Given the description of an element on the screen output the (x, y) to click on. 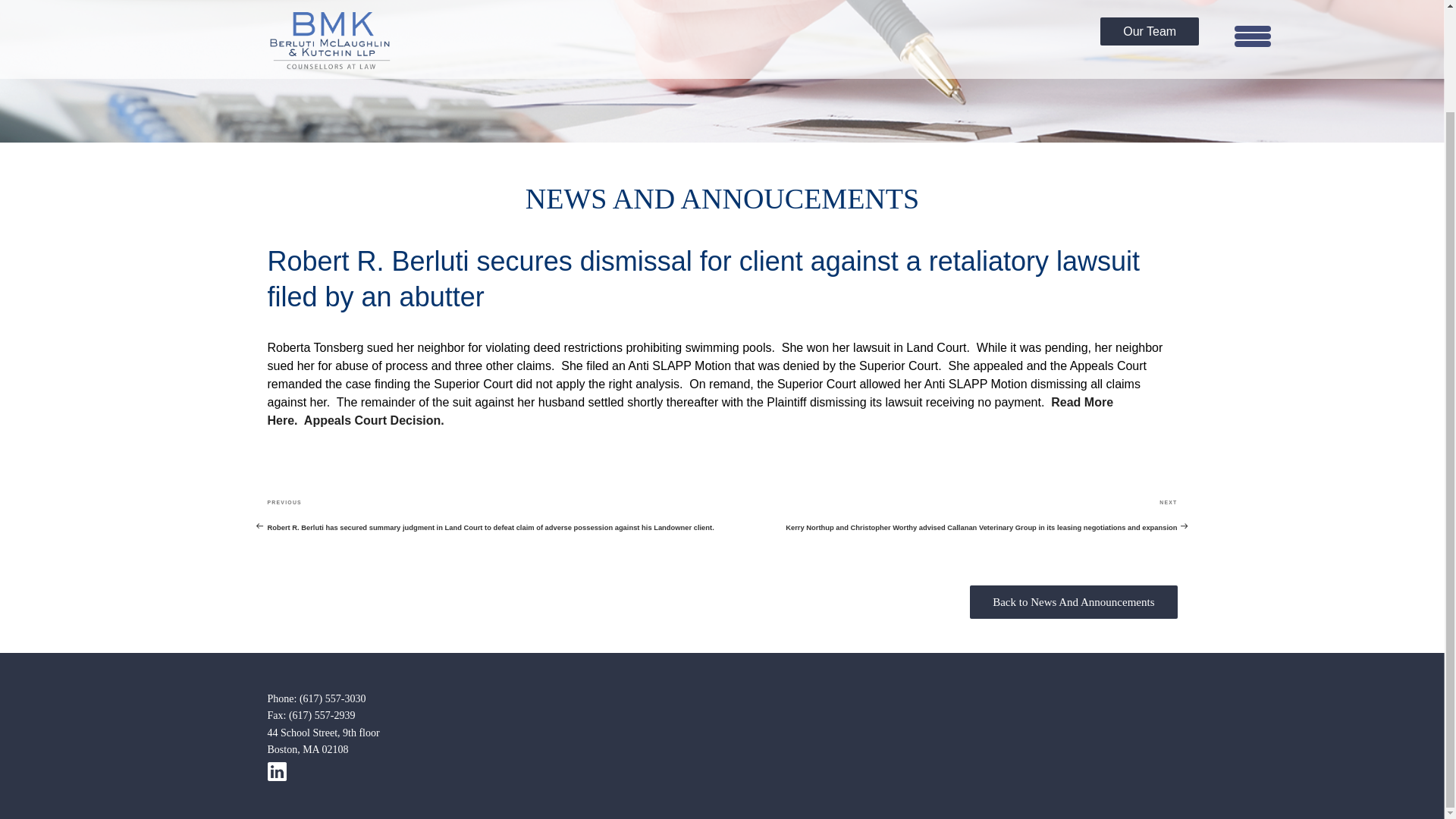
Appeals Court Decision. (374, 420)
Back to News And Announcements (1073, 602)
Read More Here. (689, 410)
